Given the description of an element on the screen output the (x, y) to click on. 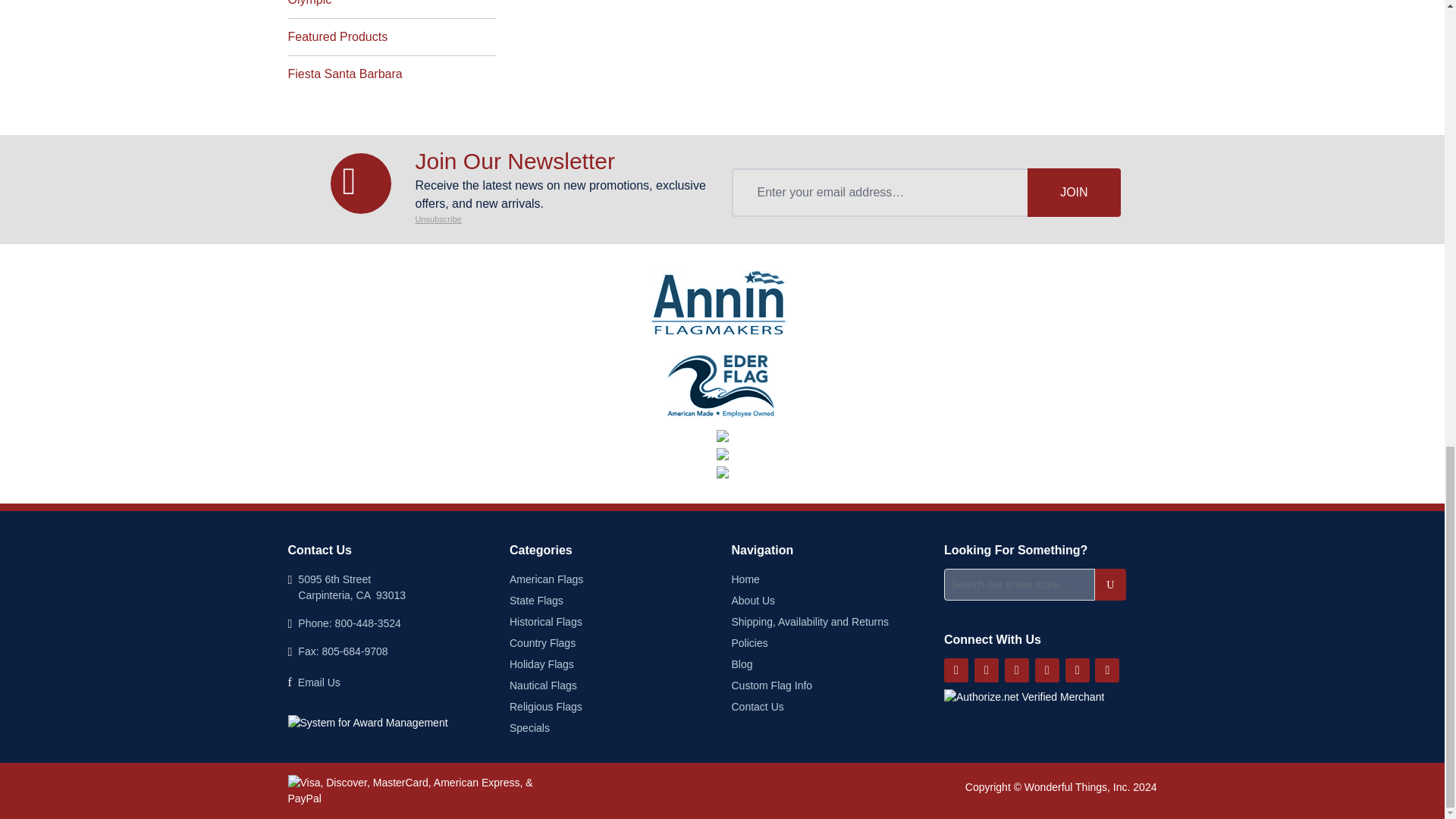
Sign Up (1073, 192)
System for Award Management (368, 722)
